Given the description of an element on the screen output the (x, y) to click on. 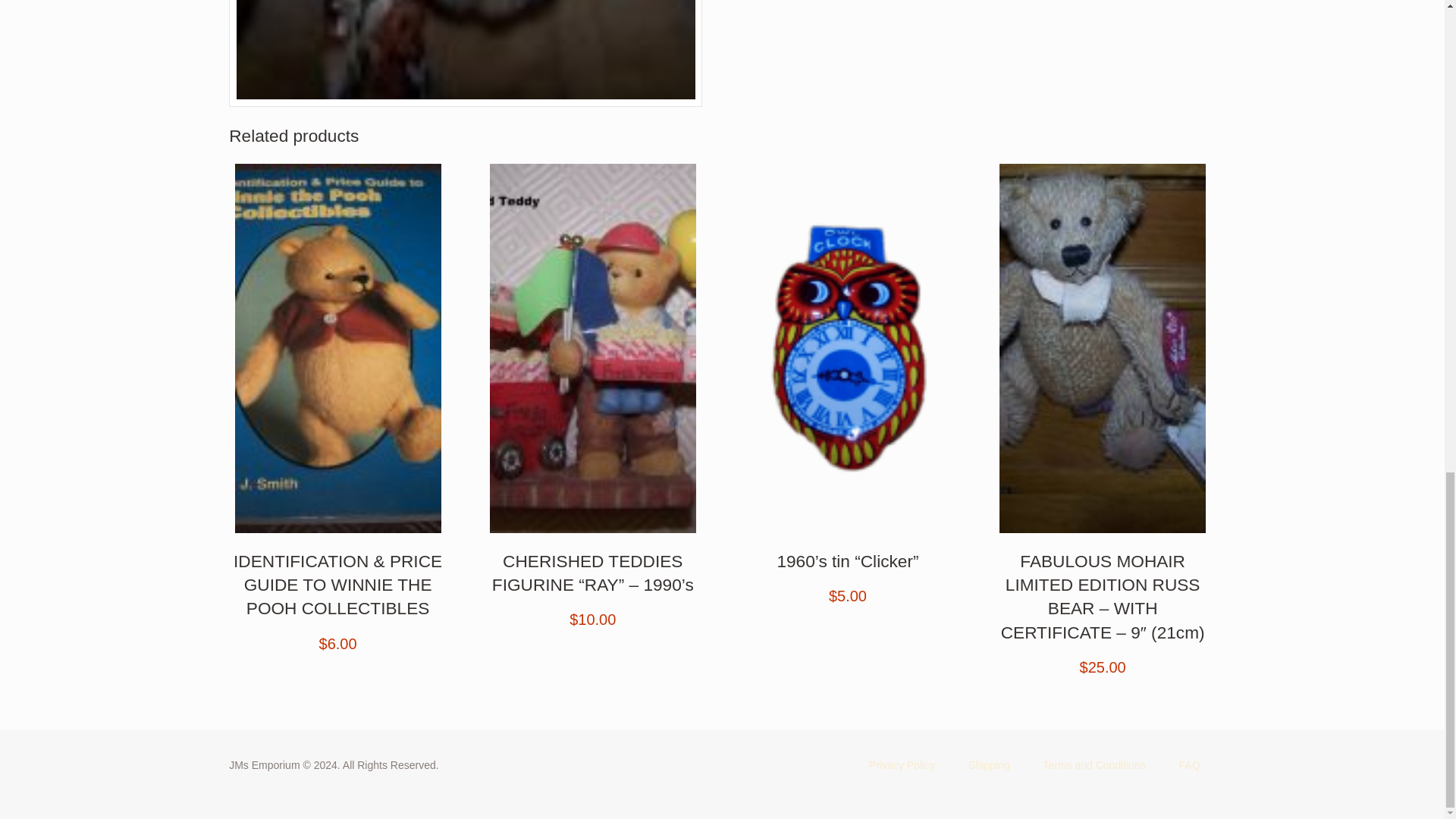
Privacy Policy (901, 765)
ArtistMadeBearWithTeddyTiePhoto2 (464, 53)
